Given the description of an element on the screen output the (x, y) to click on. 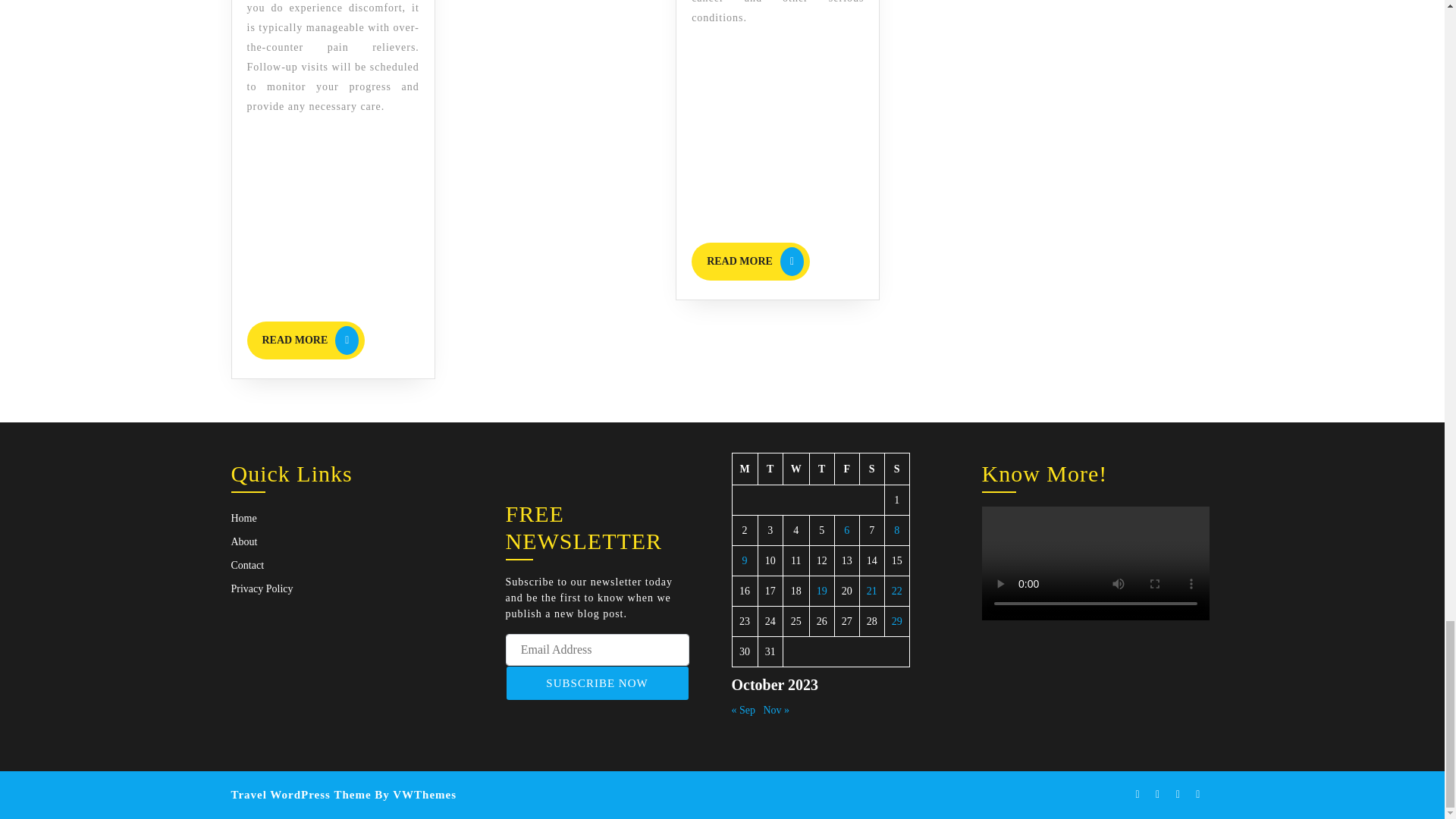
SUBSCRIBE NOW (306, 340)
